Given the description of an element on the screen output the (x, y) to click on. 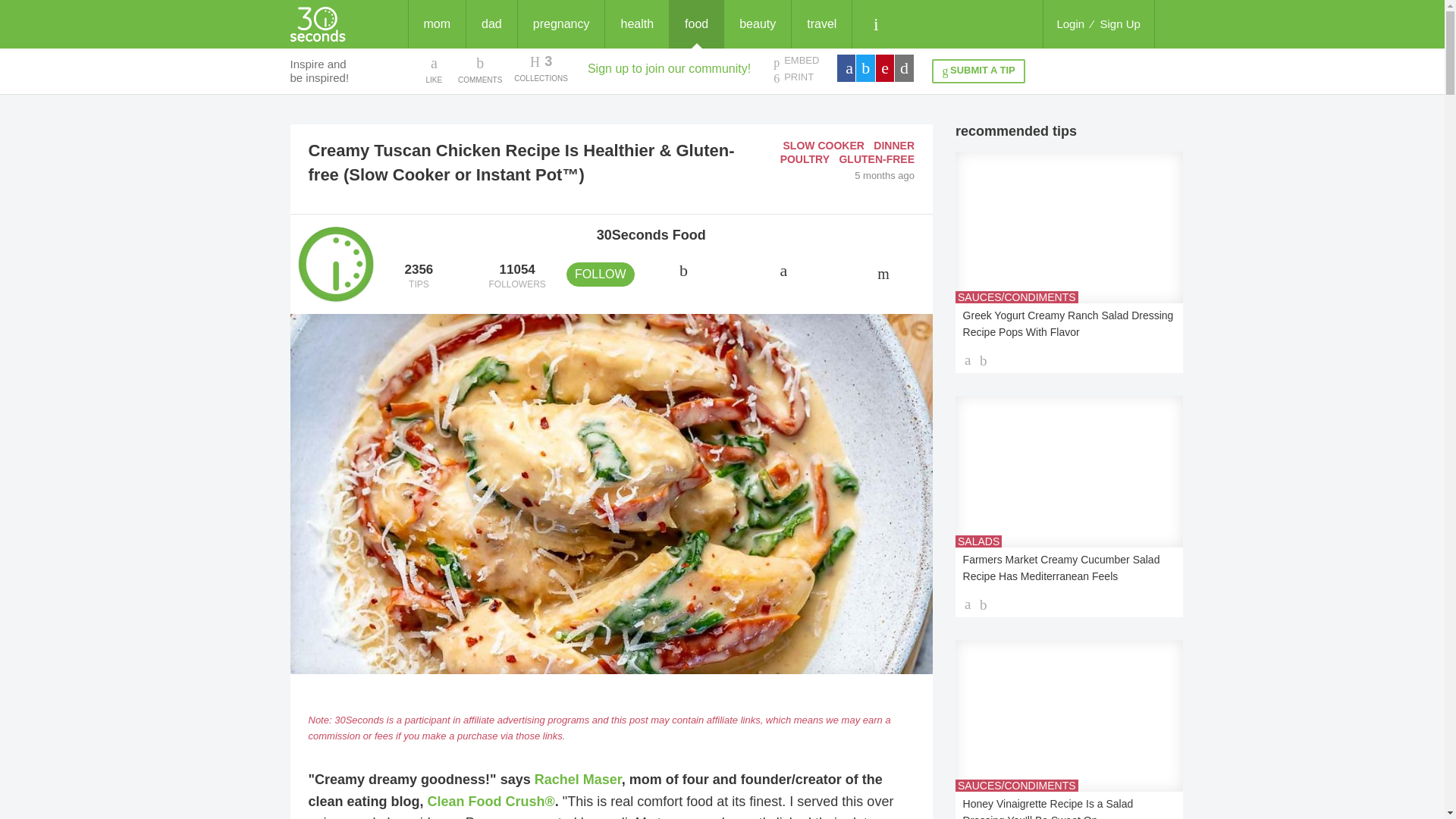
SUBMIT A TIP (978, 70)
travel (821, 24)
EMBED (795, 61)
DINNER (893, 145)
POULTRY (540, 68)
pregnancy (804, 159)
SLOW COOKER (561, 24)
Sign Up (823, 145)
PRINT (1120, 23)
